Given the description of an element on the screen output the (x, y) to click on. 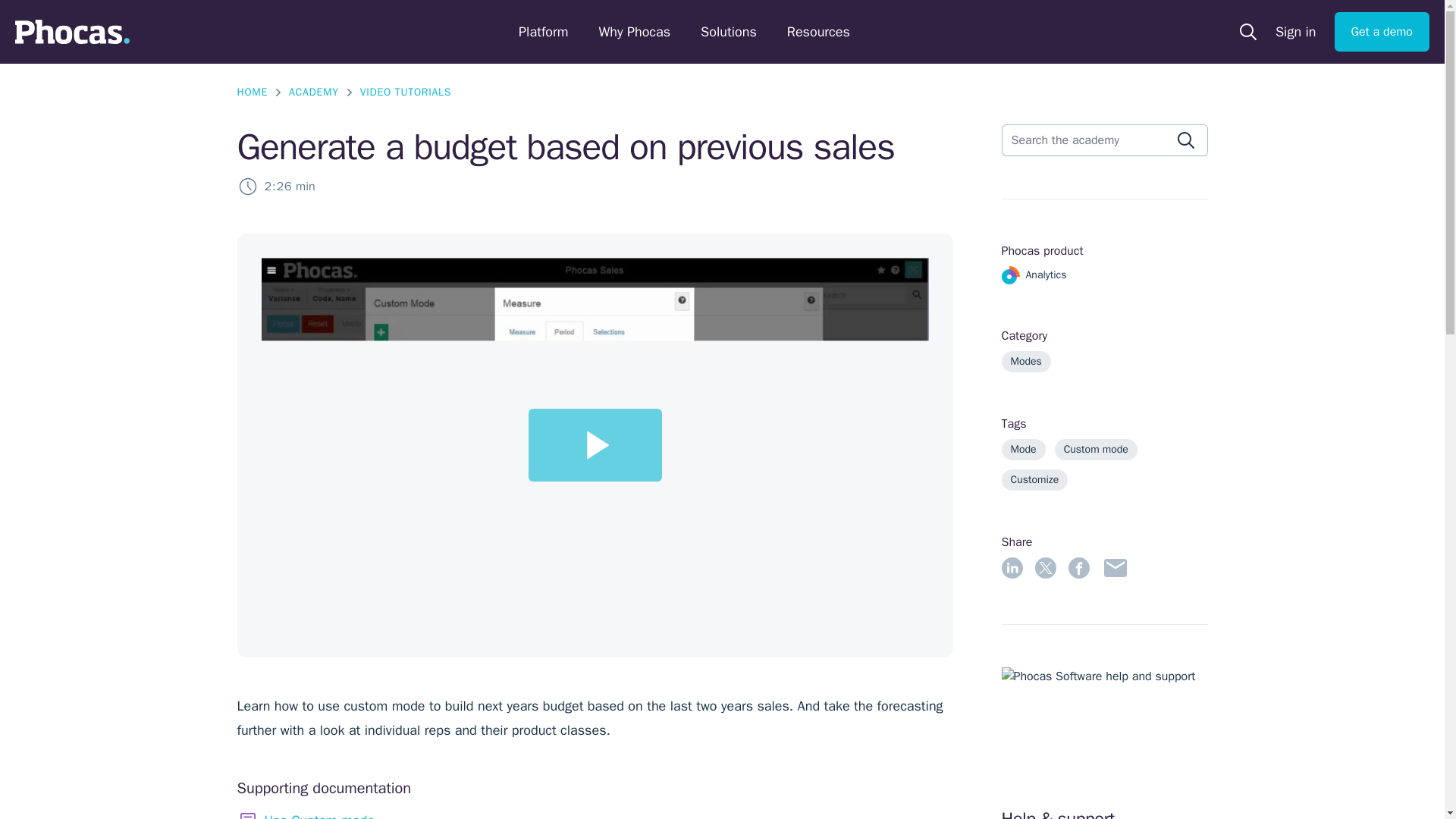
Sign in (1295, 31)
Resources (818, 31)
Why Phocas (633, 31)
Get a demo (1382, 31)
